Given the description of an element on the screen output the (x, y) to click on. 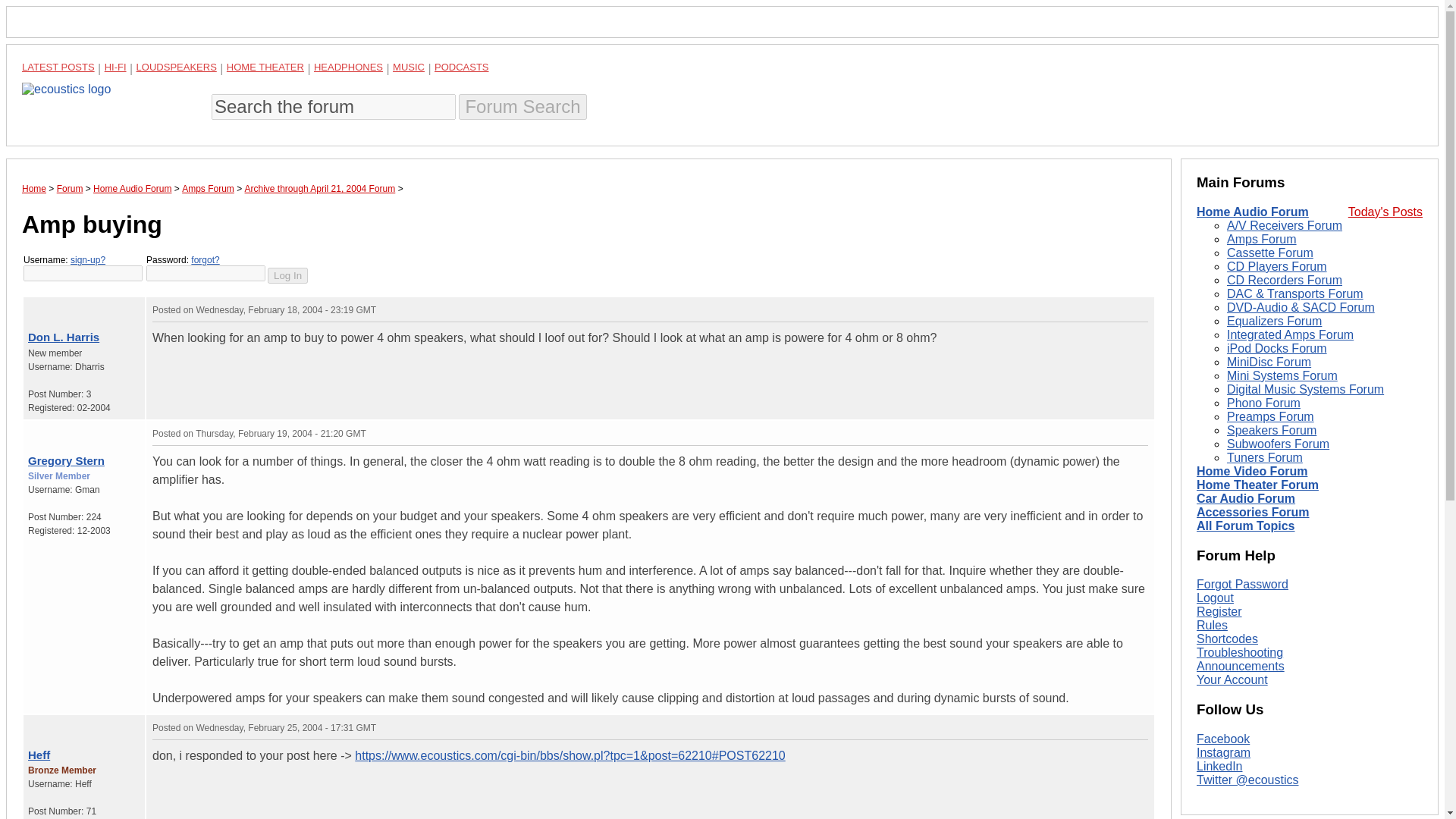
Edit Post (1140, 727)
Forum Search (522, 106)
Forgot your password? (204, 259)
link to this post (76, 724)
next post (50, 724)
Log In (287, 275)
next post (50, 429)
Search the forum (333, 106)
Edit Post (1140, 309)
top of page (32, 724)
